Given the description of an element on the screen output the (x, y) to click on. 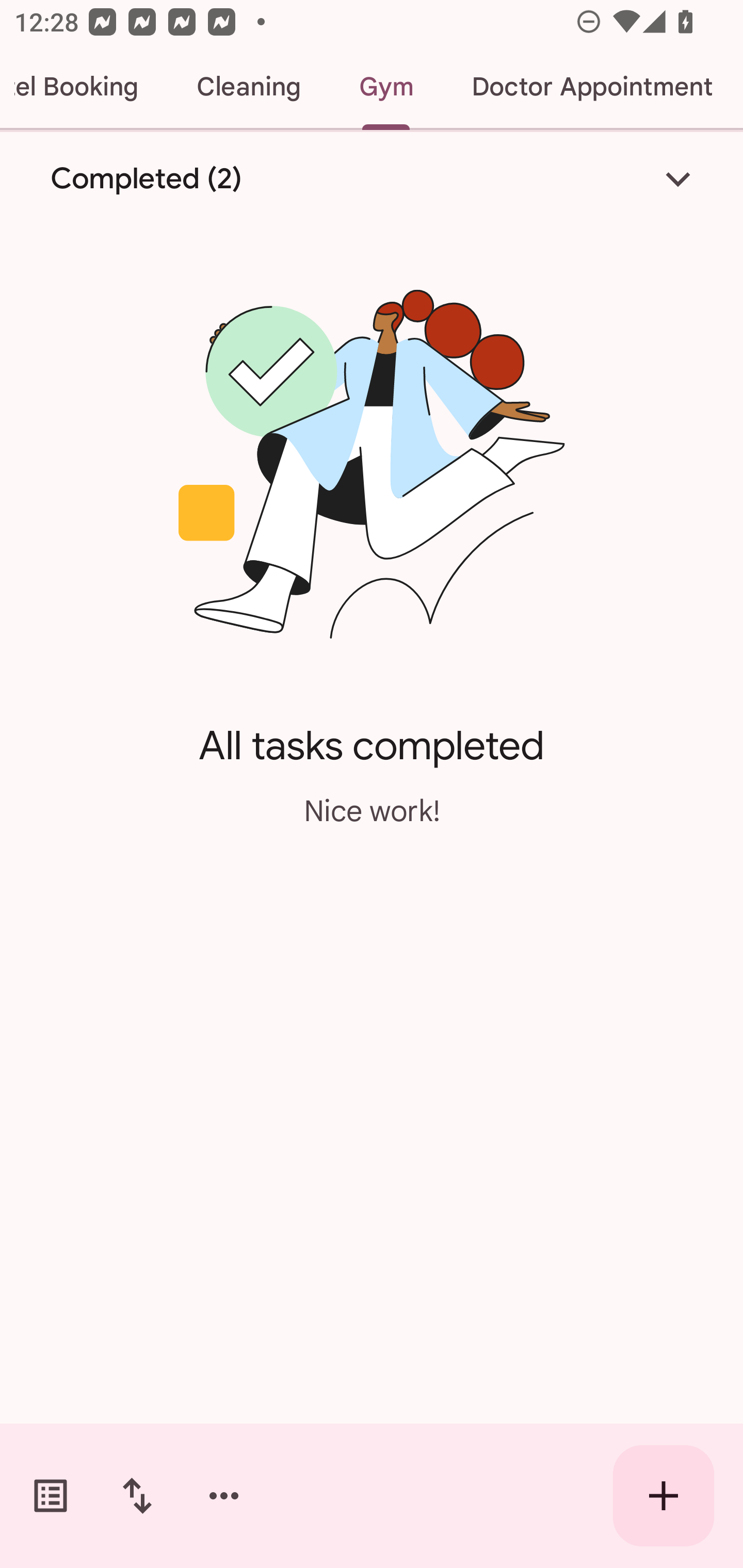
Hotel Booking (83, 86)
Cleaning (248, 86)
Doctor Appointment (591, 86)
Completed (2) (371, 178)
Switch task lists (50, 1495)
Create new task (663, 1495)
Change sort order (136, 1495)
More options (223, 1495)
